Given the description of an element on the screen output the (x, y) to click on. 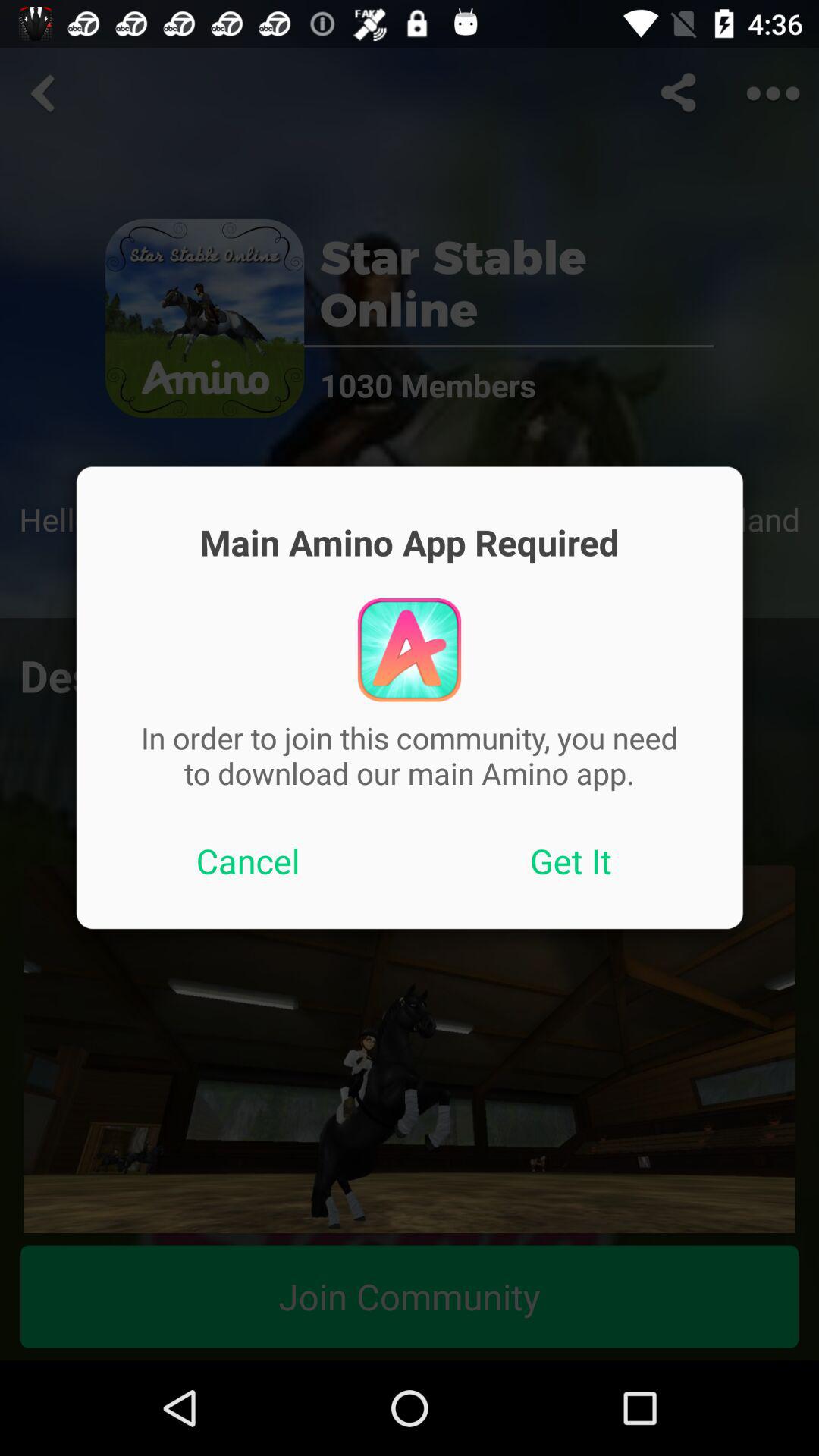
choose icon to the left of get it item (247, 860)
